Given the description of an element on the screen output the (x, y) to click on. 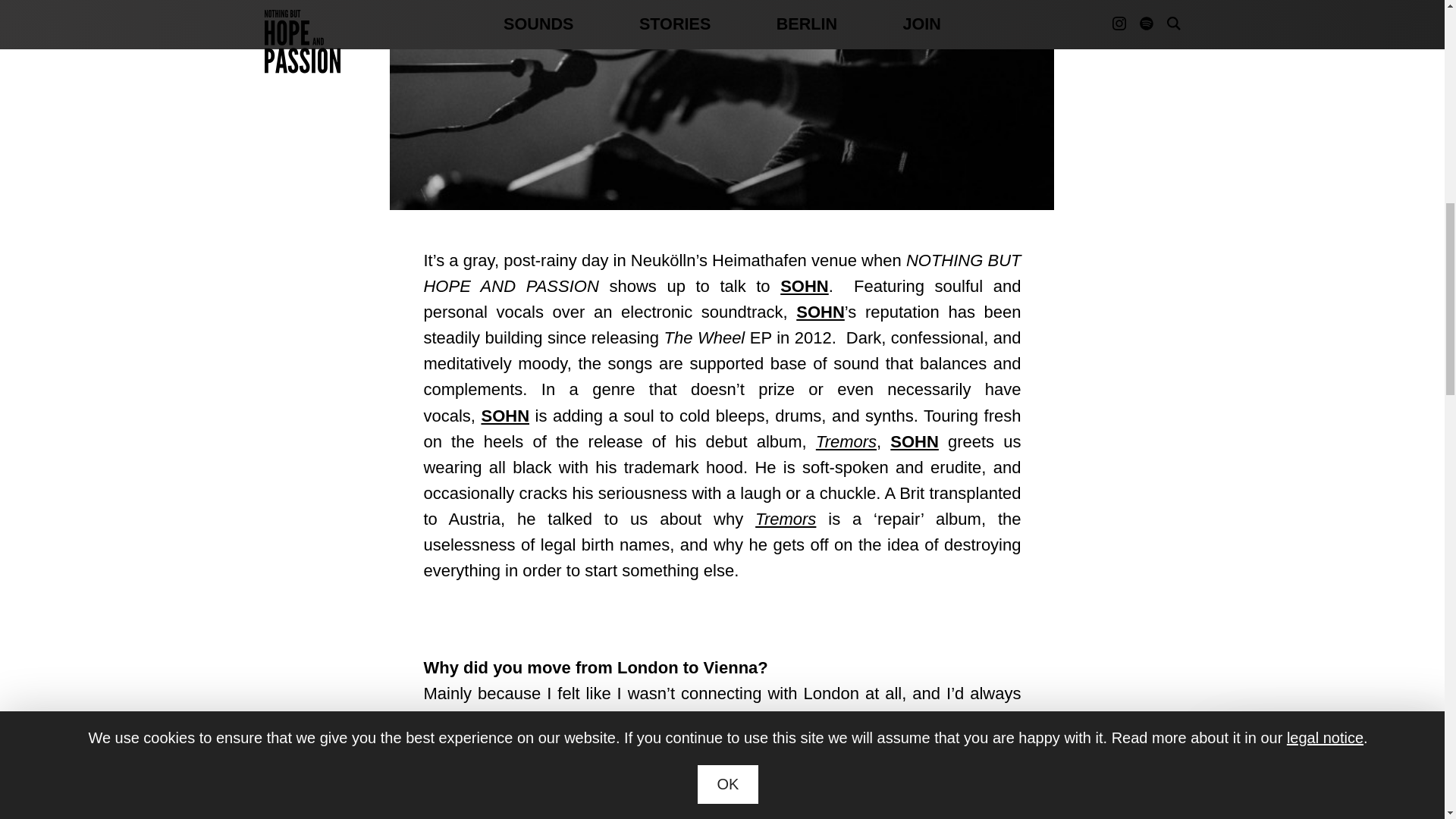
Review: SOHN - 'Tremors' (845, 441)
SOHN (504, 415)
SOHN (820, 311)
SOHN on NBHAP (504, 415)
Review: SOHN - 'Tremors' (785, 518)
SOHN (804, 285)
SOHN on NBHAP (804, 285)
Tremors (845, 441)
SOHN on NBHAP (820, 311)
SOHN (914, 441)
Tremors (785, 518)
SOHN on NBHAP (914, 441)
